Given the description of an element on the screen output the (x, y) to click on. 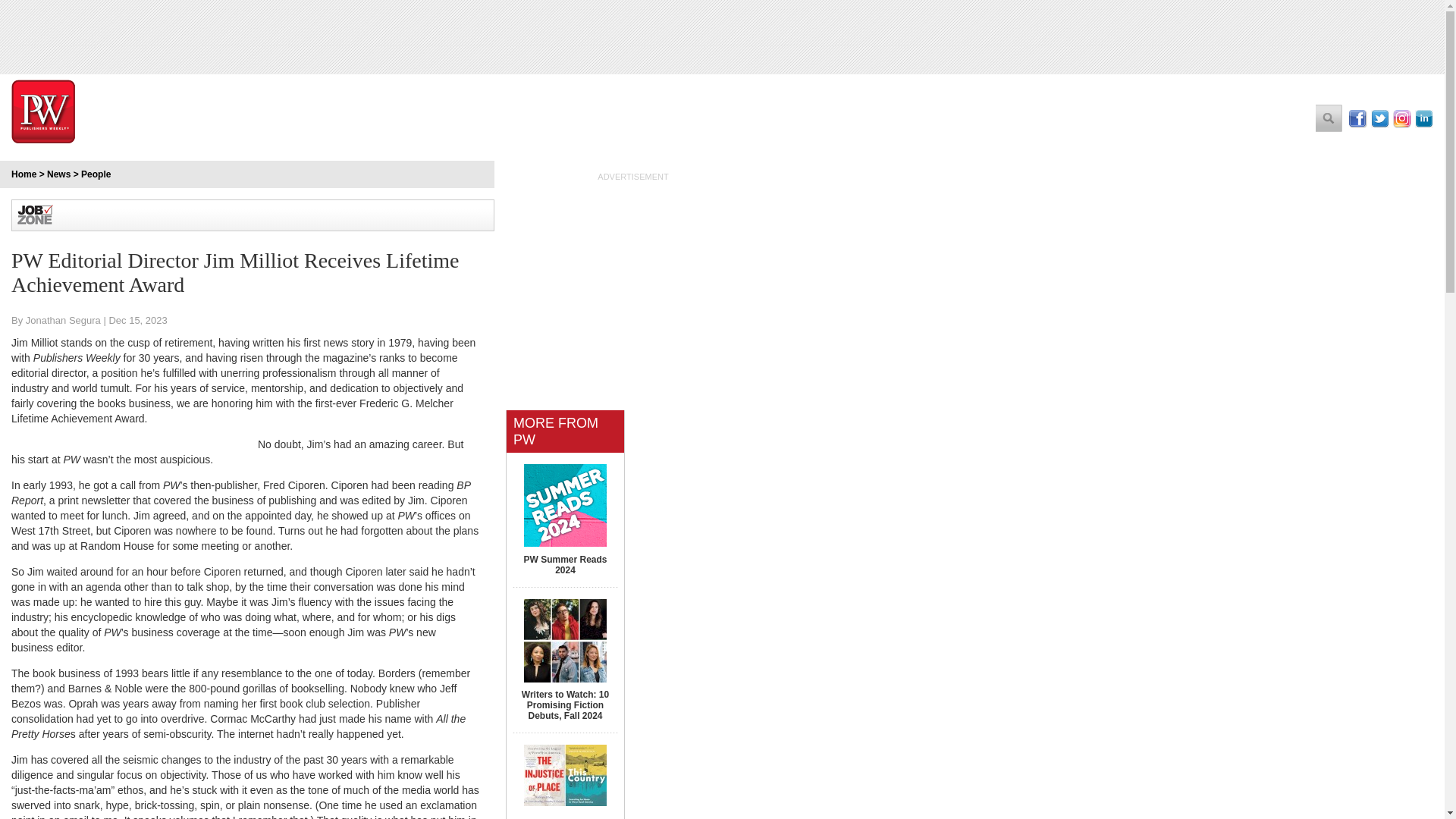
People (95, 173)
Writers to Watch: 10 Promising Fiction Debuts, Fall 2024 (564, 705)
News (57, 173)
Home (23, 173)
submit (1329, 117)
PW Summer Reads 2024 (564, 564)
